Given the description of an element on the screen output the (x, y) to click on. 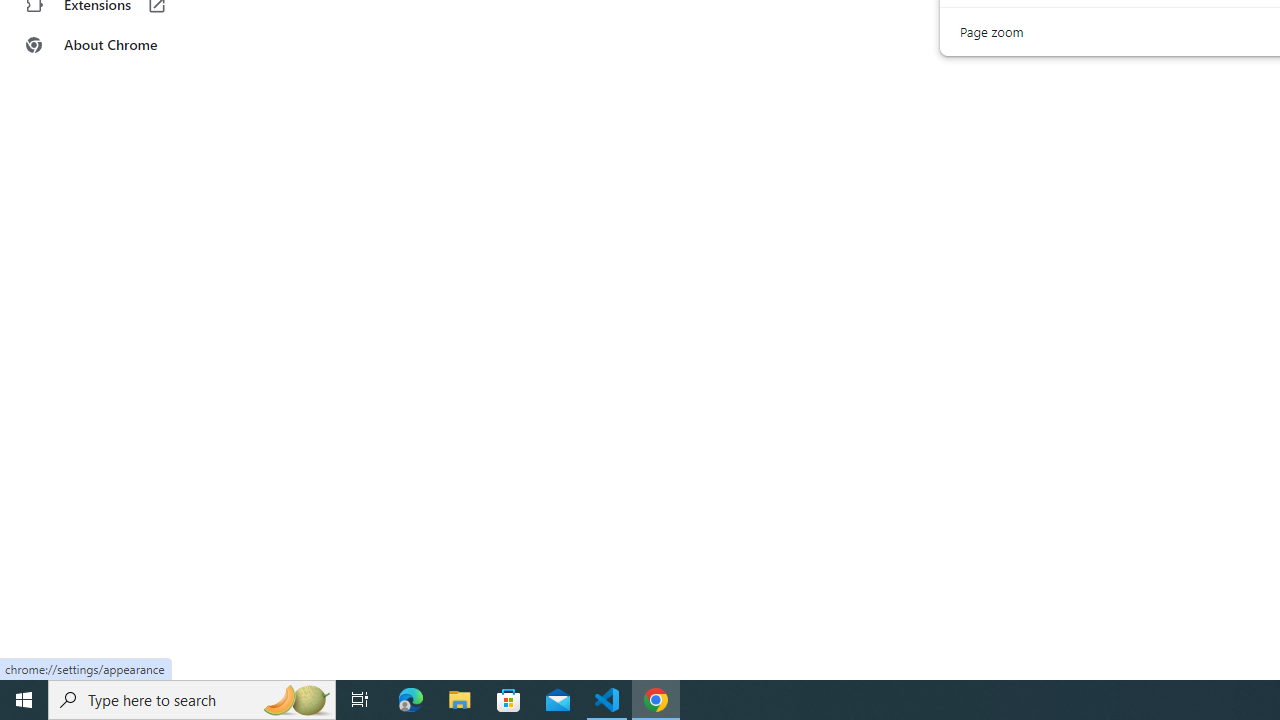
About Chrome (124, 44)
